Given the description of an element on the screen output the (x, y) to click on. 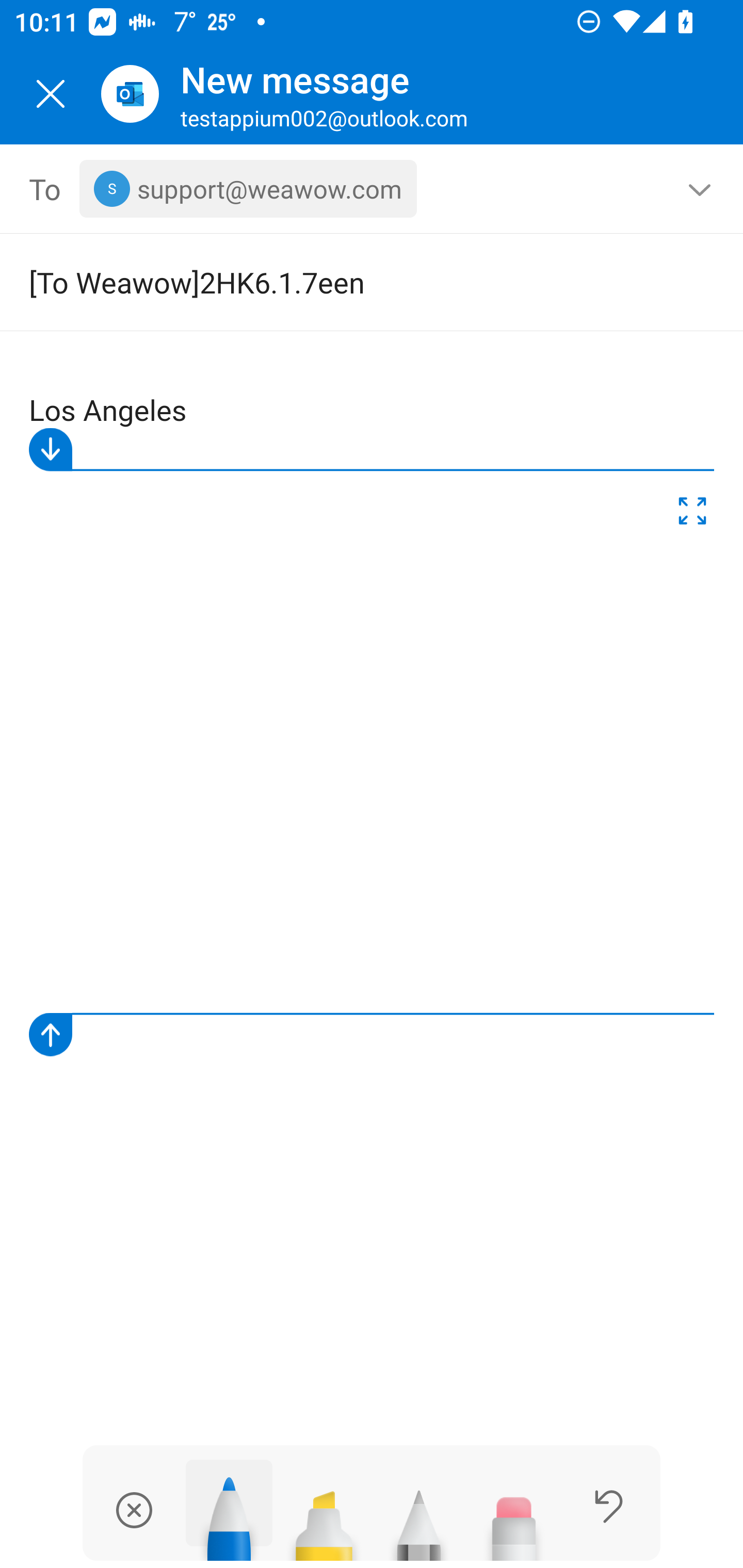
Close (50, 93)
[To Weawow]2HK6.1.7een (342, 281)

Los Angeles
 (372, 710)
Canvas upper bound (371, 449)
Expand Drawing (692, 514)
Canvas Lower Bound (371, 1034)
Pen tool (228, 1509)
Undo last stroke (608, 1505)
dismiss ink and save drawing (133, 1510)
Highlighter tool (323, 1517)
Pencil tool (418, 1517)
Eraser tool (513, 1517)
